Given the description of an element on the screen output the (x, y) to click on. 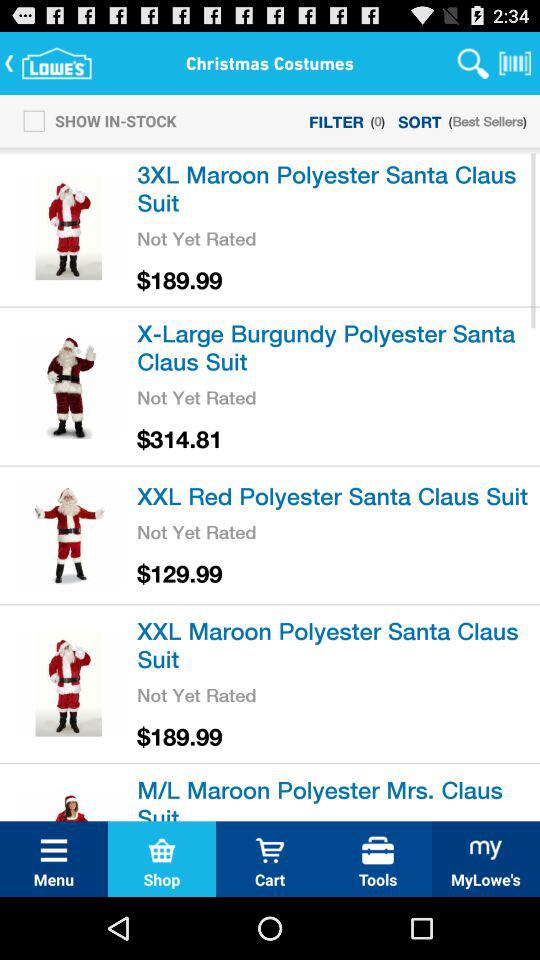
click the item above the not yet rated (335, 346)
